Given the description of an element on the screen output the (x, y) to click on. 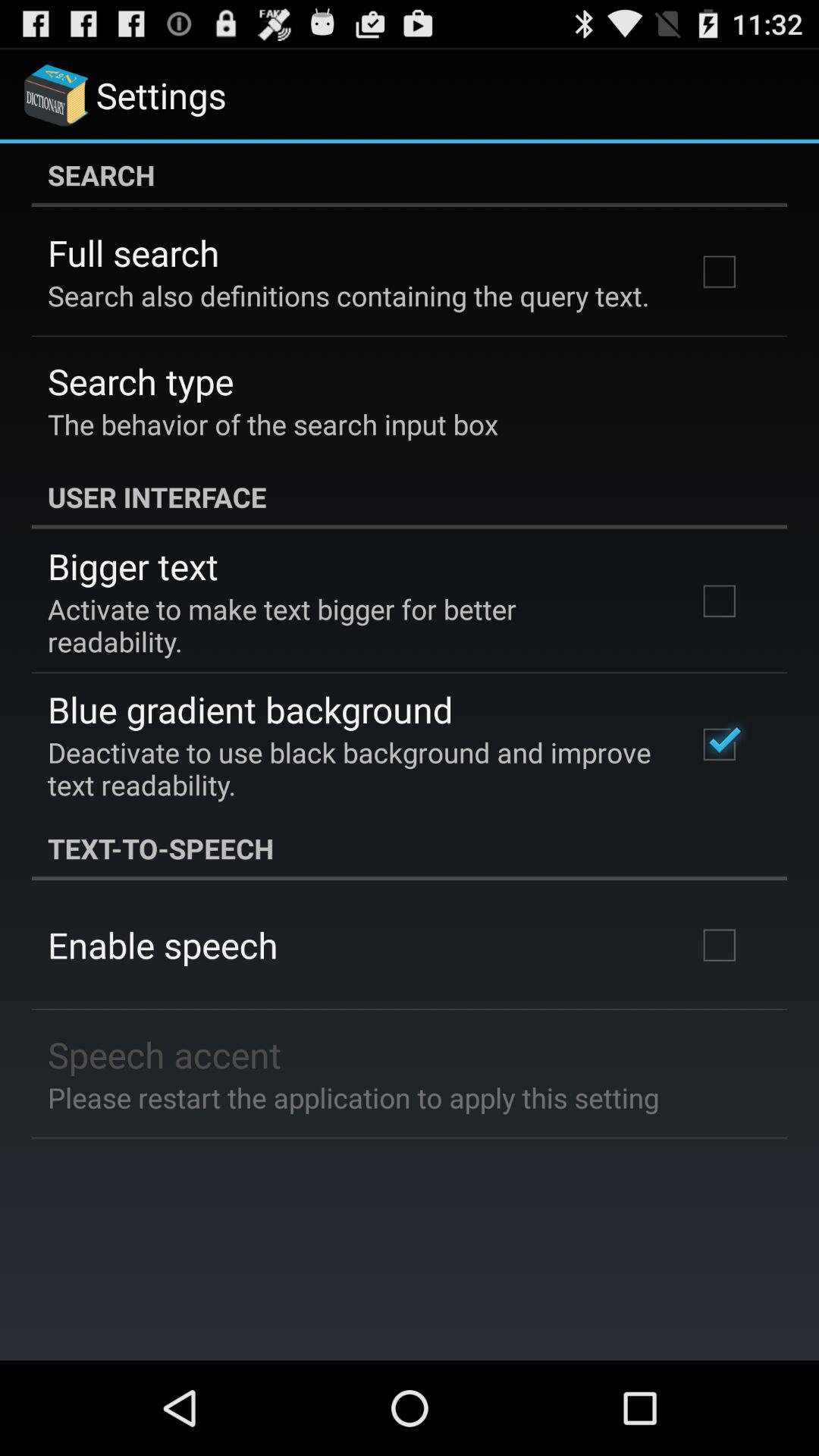
launch icon above the user interface (272, 424)
